Given the description of an element on the screen output the (x, y) to click on. 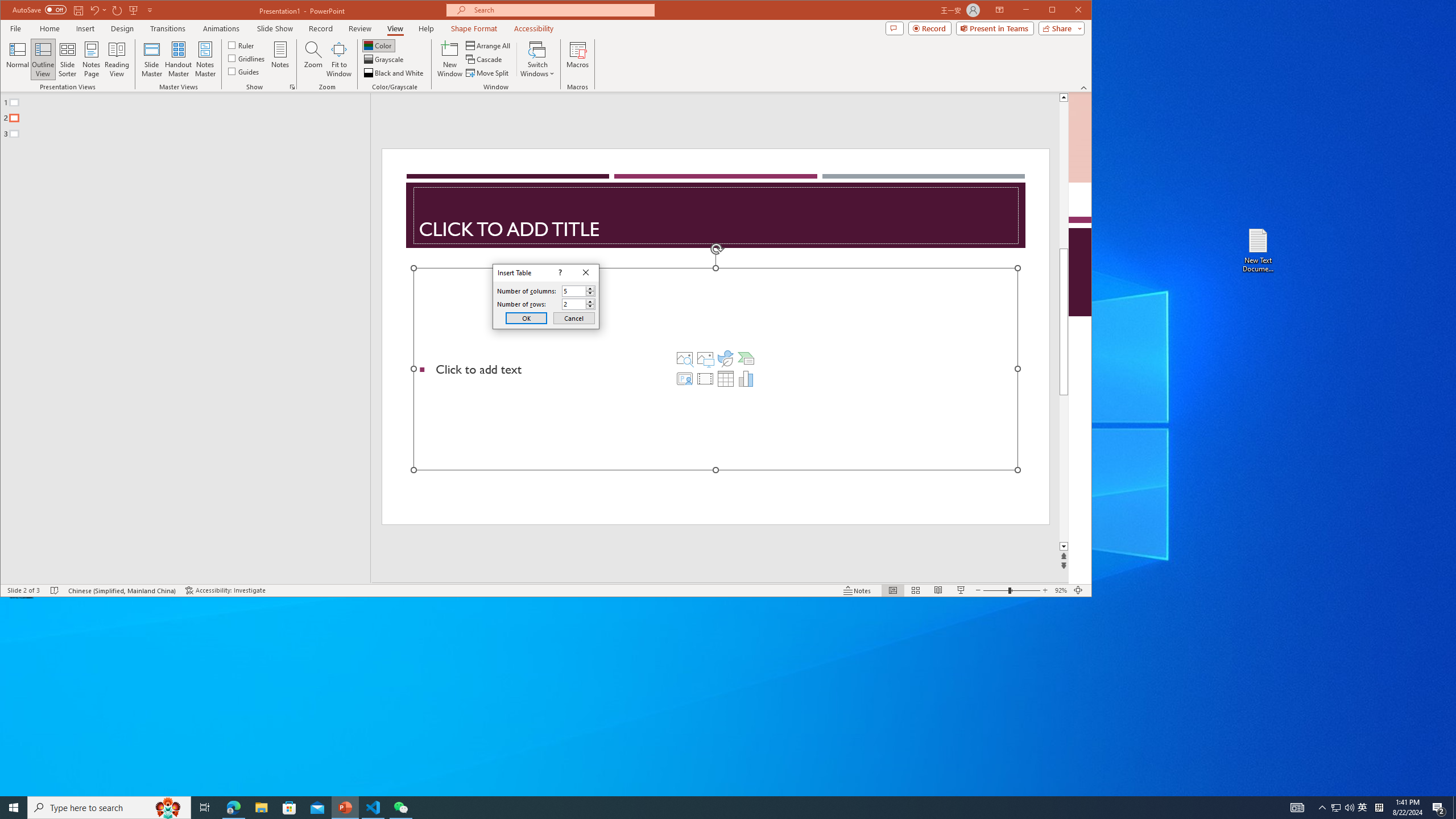
Move Split (488, 72)
